Given the description of an element on the screen output the (x, y) to click on. 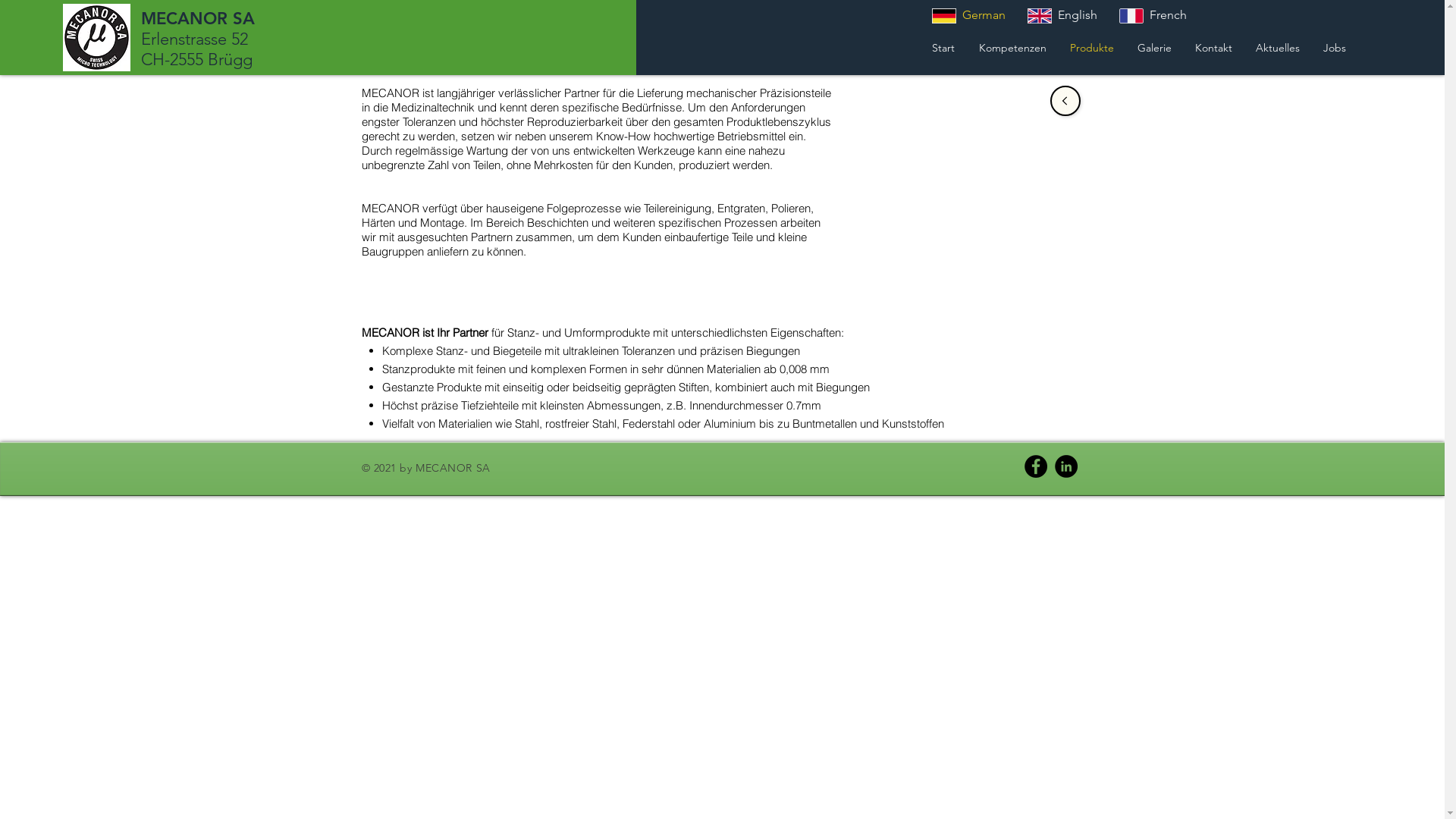
Kompetenzen Element type: text (1011, 47)
German Element type: text (968, 15)
MECANOR SA Element type: text (197, 18)
English Element type: text (1061, 15)
Galerie Element type: text (1154, 47)
Kontakt Element type: text (1213, 47)
Produkte Element type: text (1091, 47)
Start Element type: text (942, 47)
Aktuelles Element type: text (1277, 47)
Erlenstrasse 52 Element type: text (194, 38)
French Element type: text (1152, 15)
Jobs Element type: text (1334, 47)
